Given the description of an element on the screen output the (x, y) to click on. 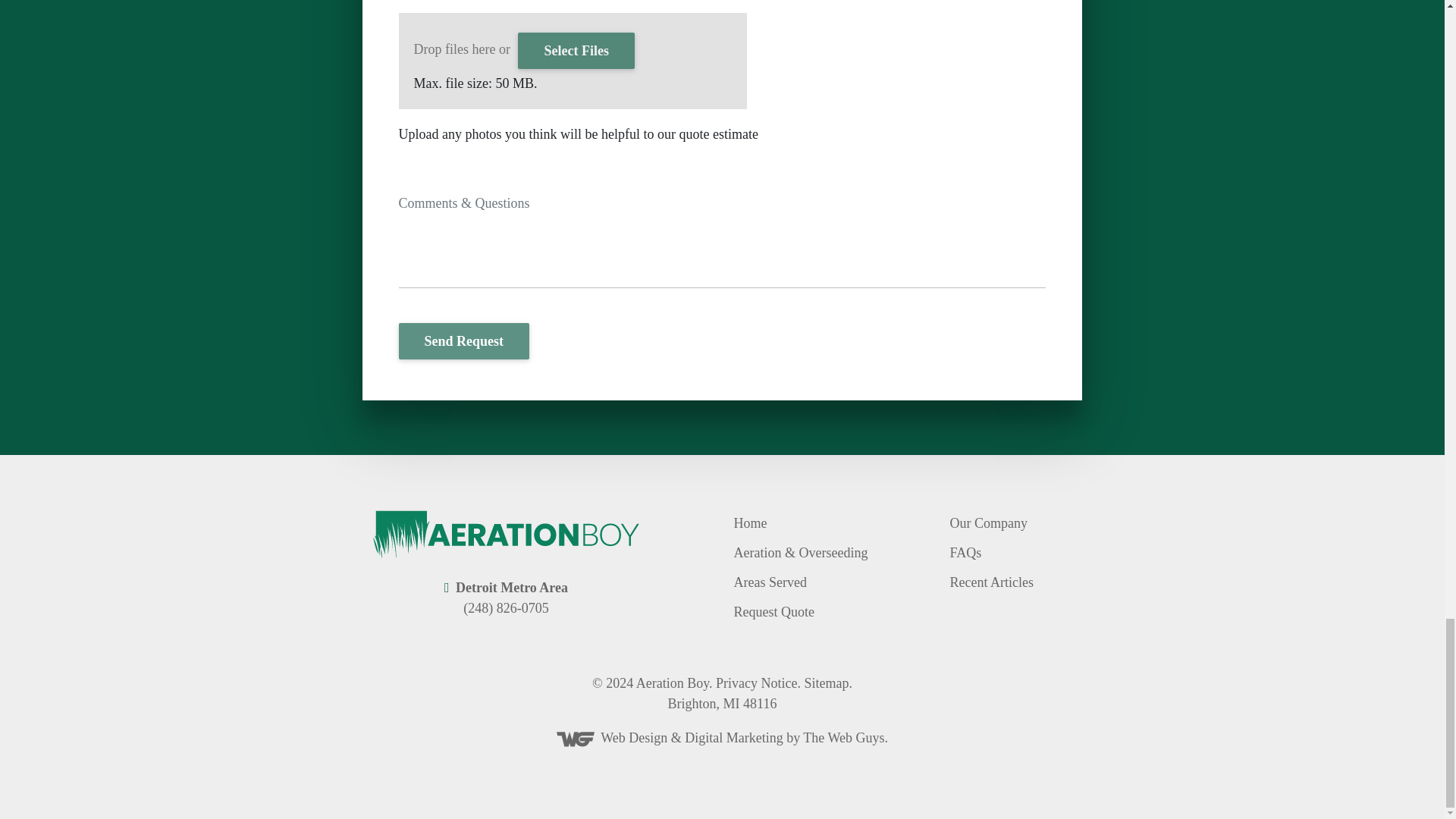
Send Request (463, 340)
Areas Served (769, 583)
Sitemap (825, 683)
Send Request (463, 340)
Privacy Notice (756, 683)
Detroit Metro Area (511, 587)
Digital Marketing (733, 737)
Home (750, 523)
Request Quote (773, 613)
Select Files (575, 50)
Recent Articles (990, 583)
FAQs (965, 553)
Our Company (988, 523)
